Given the description of an element on the screen output the (x, y) to click on. 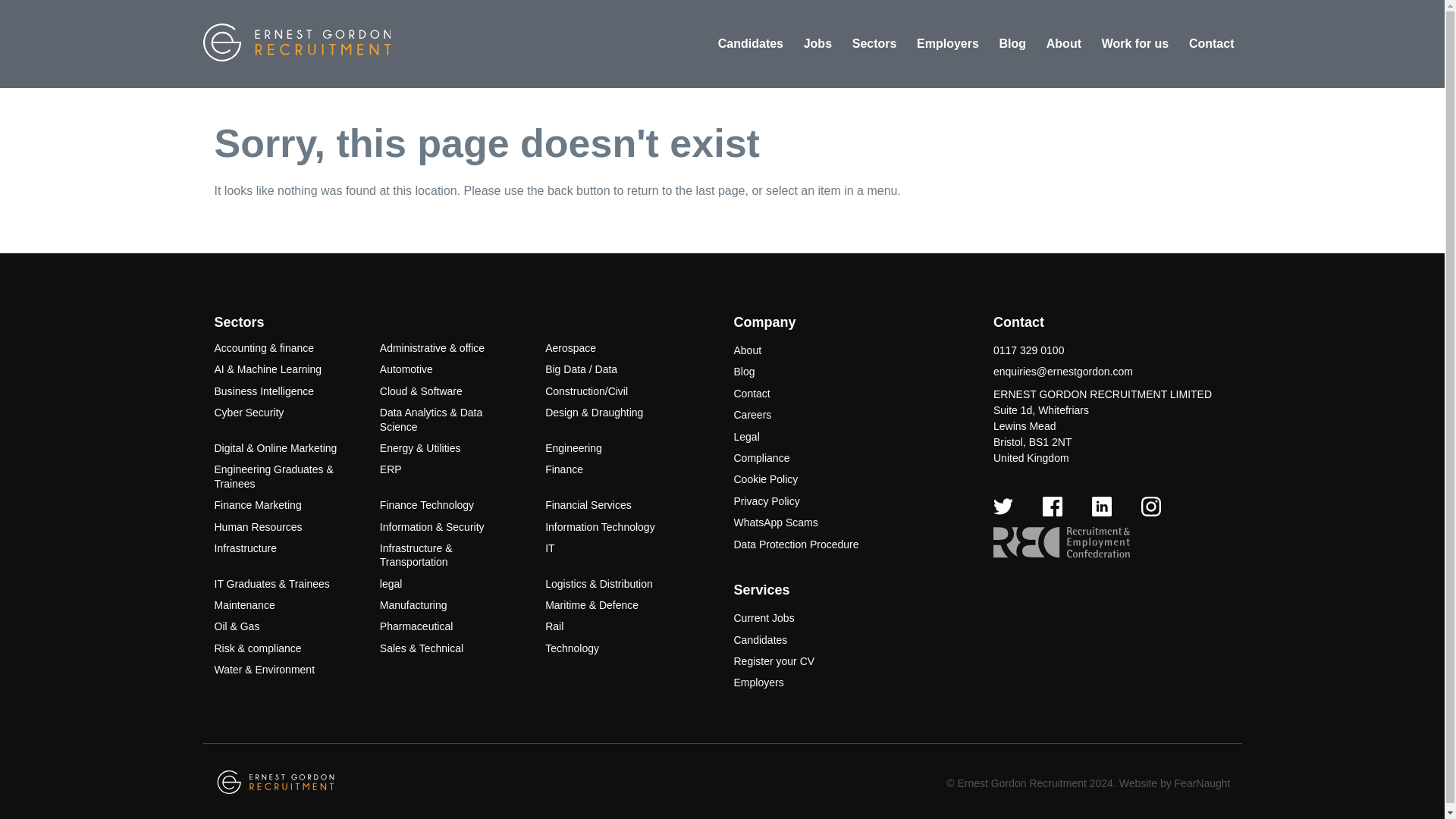
Human Resources (257, 526)
ERP (390, 469)
Information Technology (599, 526)
Work for us (1135, 43)
Employers (947, 43)
Finance (563, 469)
Automotive (406, 369)
Finance Technology (427, 504)
Infrastructure (245, 548)
Candidates (750, 43)
